Given the description of an element on the screen output the (x, y) to click on. 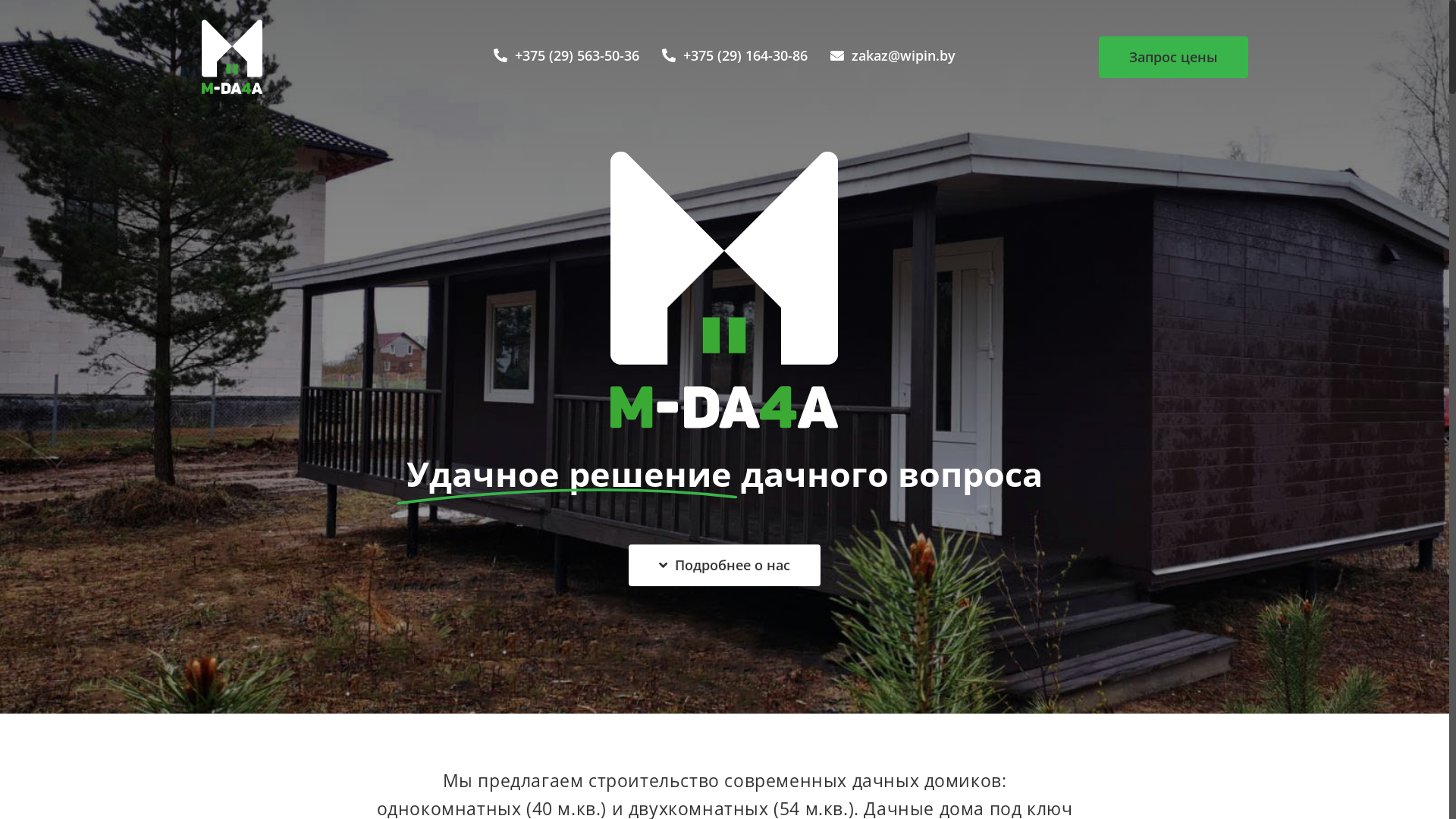
logo Element type: hover (723, 289)
zakaz@wipin.by Element type: text (892, 55)
+375 (29) 563-50-36 Element type: text (566, 55)
M-Dacha Element type: hover (231, 56)
+375 (29) 164-30-86 Element type: text (734, 55)
